Given the description of an element on the screen output the (x, y) to click on. 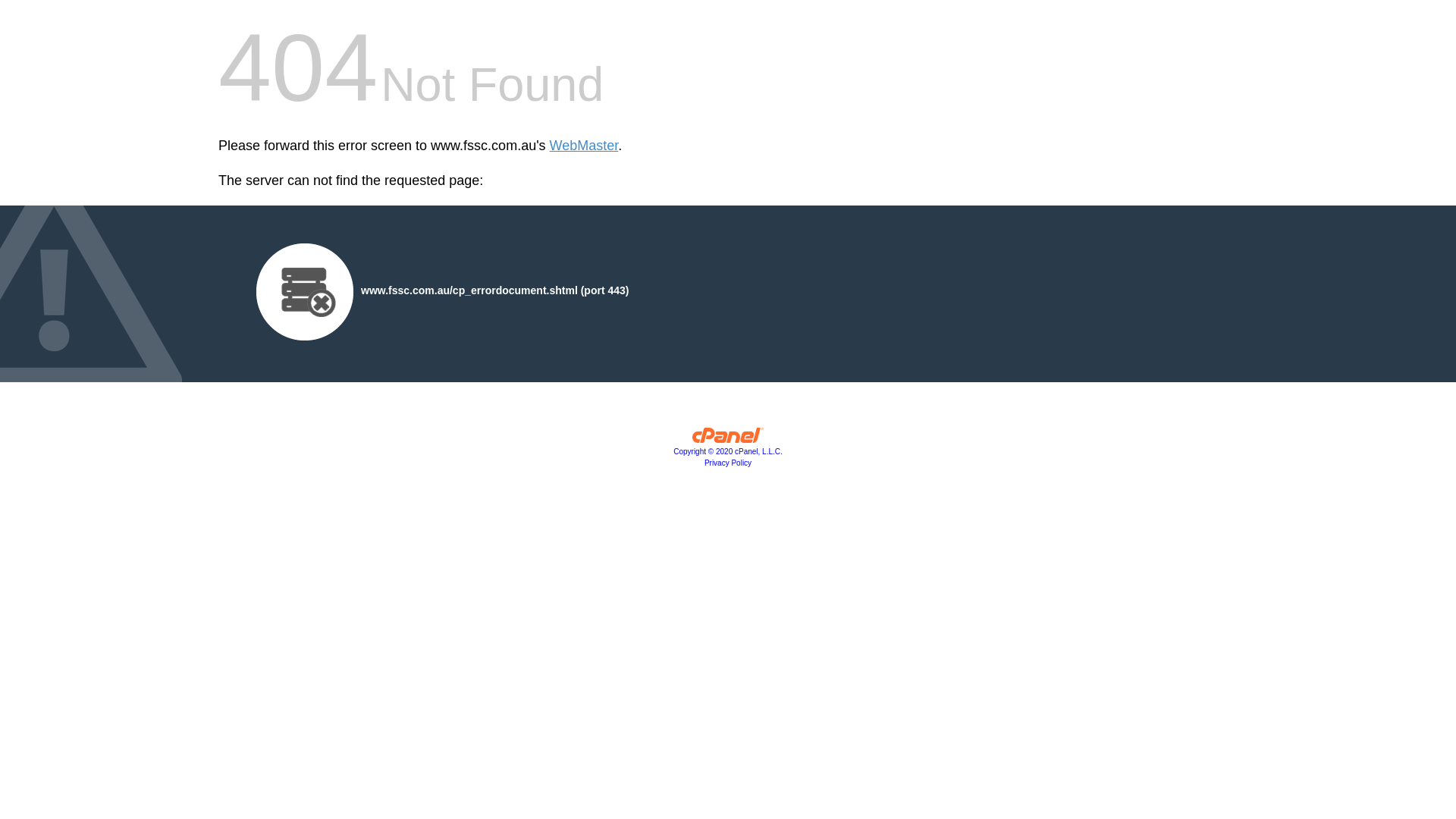
WebMaster Element type: text (583, 145)
cPanel, Inc. Element type: hover (728, 439)
Privacy Policy Element type: text (727, 462)
